Given the description of an element on the screen output the (x, y) to click on. 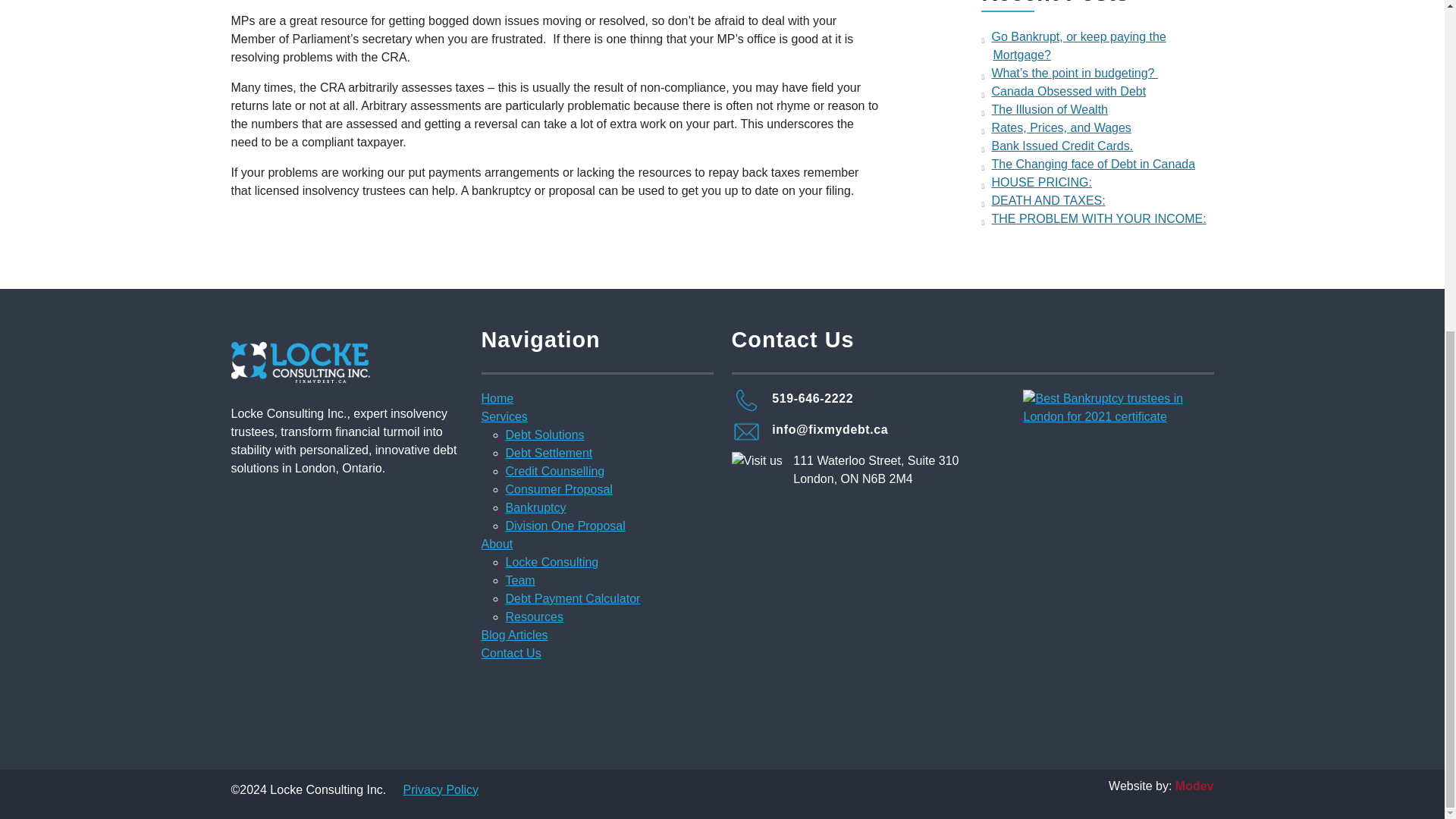
Rates, Prices, and Wages (1061, 127)
The Illusion of Wealth (1049, 109)
Canada Obsessed with Debt (1068, 91)
Go Bankrupt, or keep paying the Mortgage? (1078, 45)
Bank Issued Credit Cards. (1061, 145)
